Given the description of an element on the screen output the (x, y) to click on. 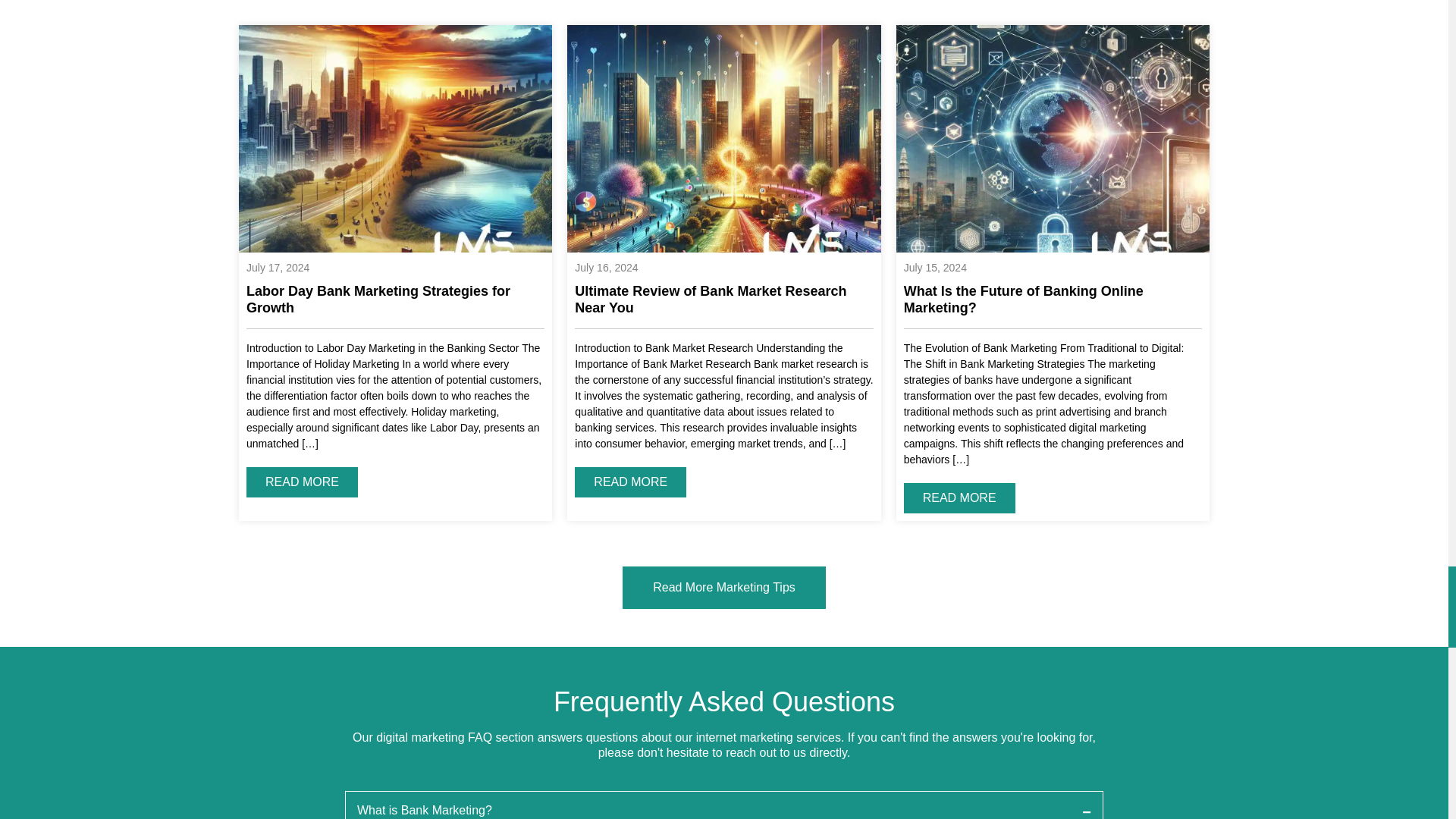
Frequently Asked Questions (724, 700)
READ MORE (959, 497)
Read More Marketing Tips (724, 586)
What Is the Future of Banking Online Marketing? (1053, 304)
Ultimate Review of Bank Market Research Near You (723, 304)
READ MORE (302, 481)
Labor Day Bank Marketing Strategies for Growth (395, 304)
Read More Marketing Tips (724, 586)
READ MORE (630, 481)
What is Bank Marketing? (724, 804)
